Given the description of an element on the screen output the (x, y) to click on. 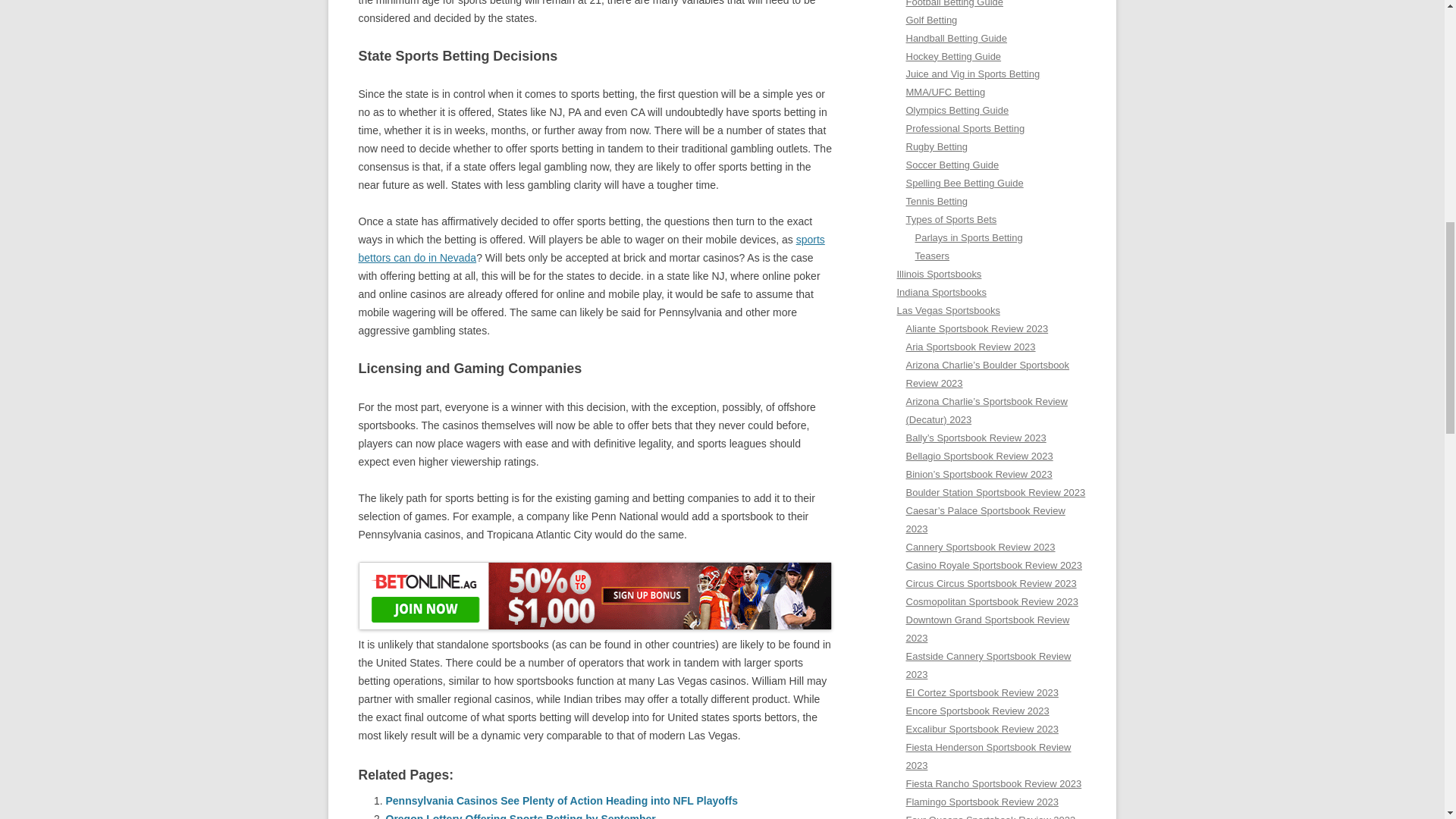
sports bettors can do in Nevada (591, 248)
Oregon Lottery Offering Sports Betting by September (520, 816)
Oregon Lottery Offering Sports Betting by September (520, 816)
